Given the description of an element on the screen output the (x, y) to click on. 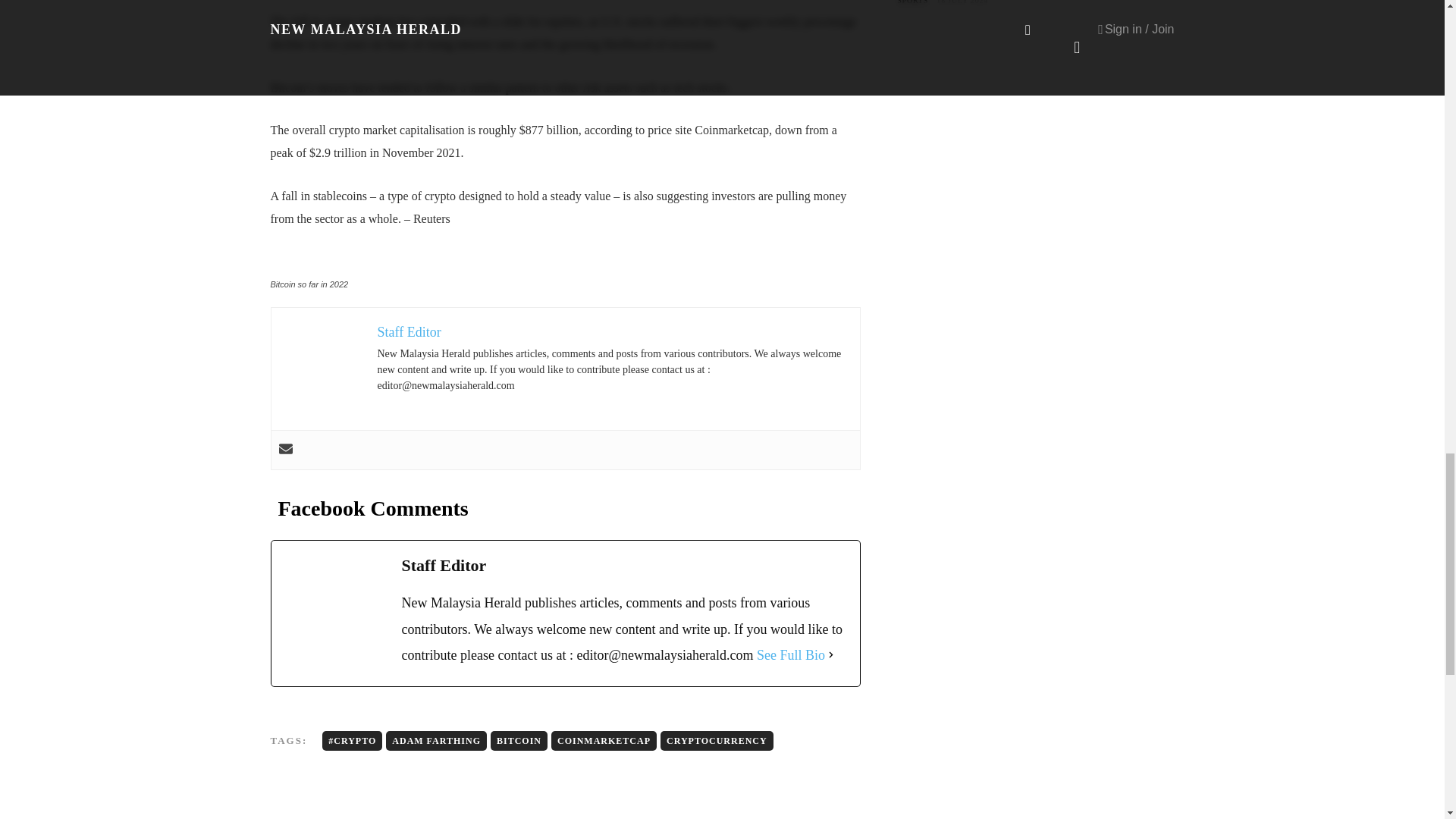
Staff Editor (409, 331)
